Given the description of an element on the screen output the (x, y) to click on. 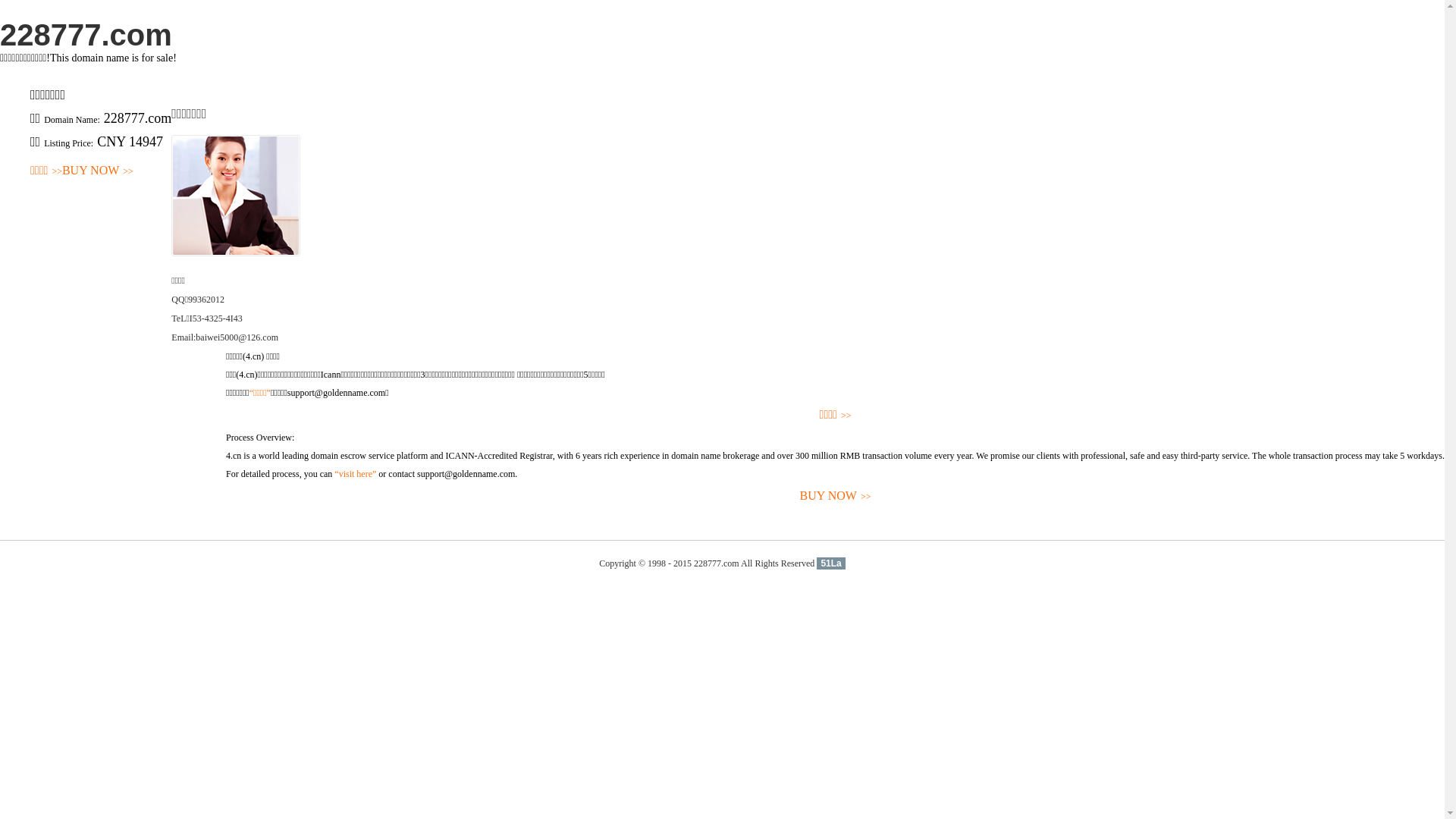
BUY NOW>> Element type: text (97, 170)
BUY NOW>> Element type: text (834, 496)
51La Element type: text (830, 563)
